Given the description of an element on the screen output the (x, y) to click on. 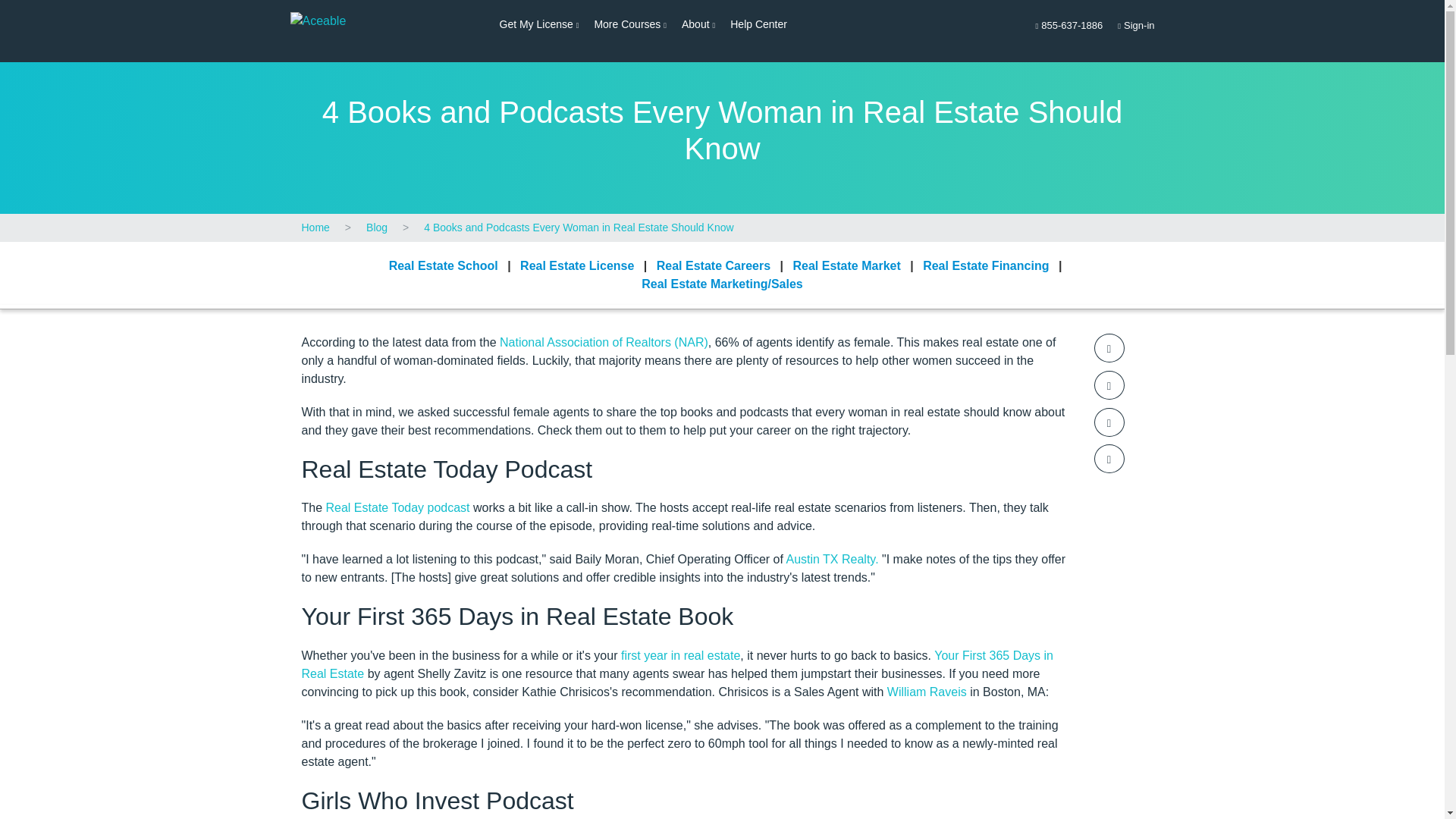
Real Estate School (442, 265)
Your First 365 Days in Real Estate (677, 664)
About (697, 24)
first year in real estate (1136, 25)
Home (680, 655)
Get My License (315, 227)
Blog (538, 24)
Real Estate Market (376, 227)
Real Estate Today podcast (845, 265)
Real Estate License (398, 507)
Real Estate Financing (576, 265)
Austin TX Realty. (985, 265)
4 Books and Podcasts Every Woman in Real Estate Should Know (831, 558)
